Given the description of an element on the screen output the (x, y) to click on. 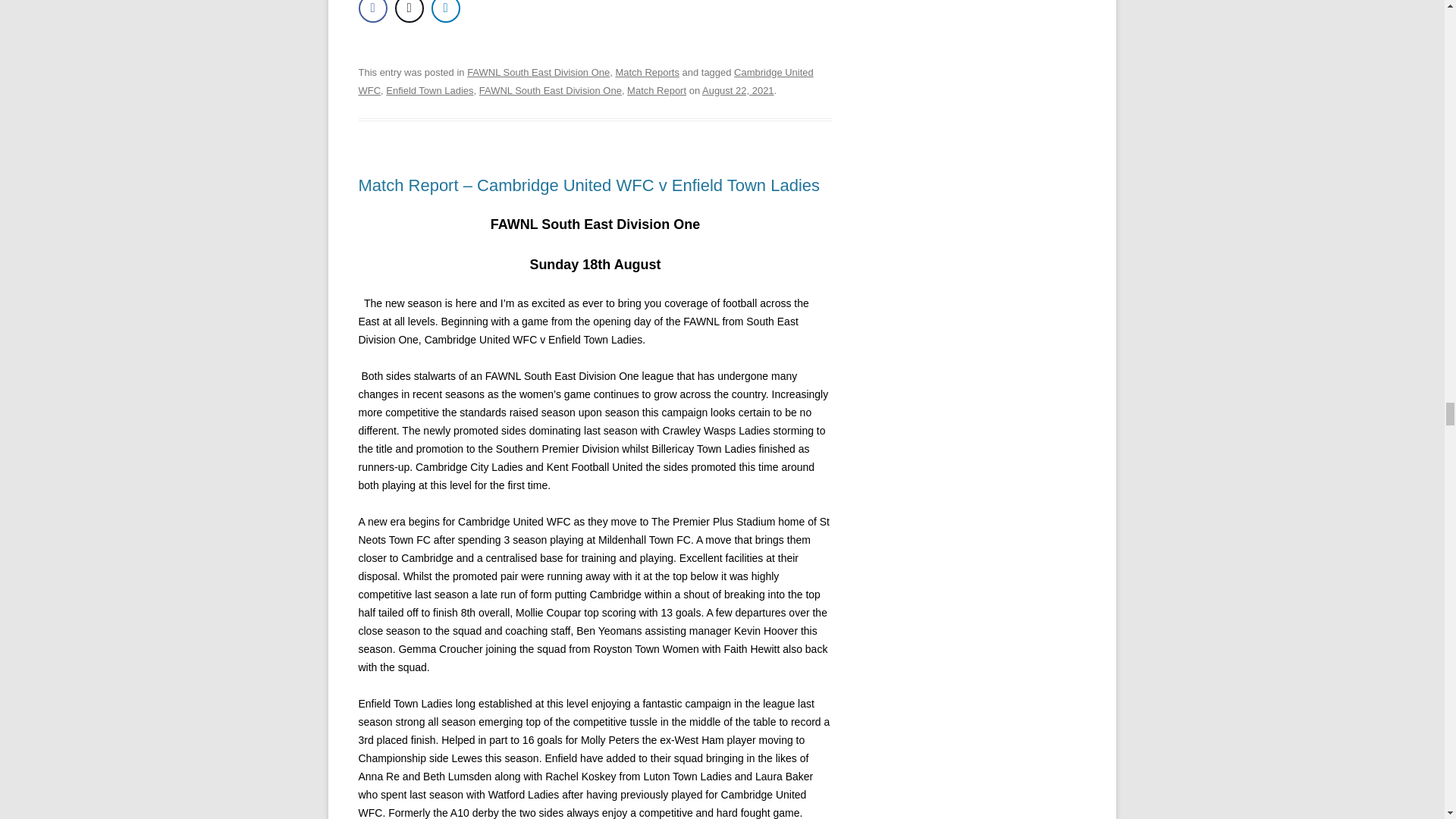
21:12 (737, 90)
